Given the description of an element on the screen output the (x, y) to click on. 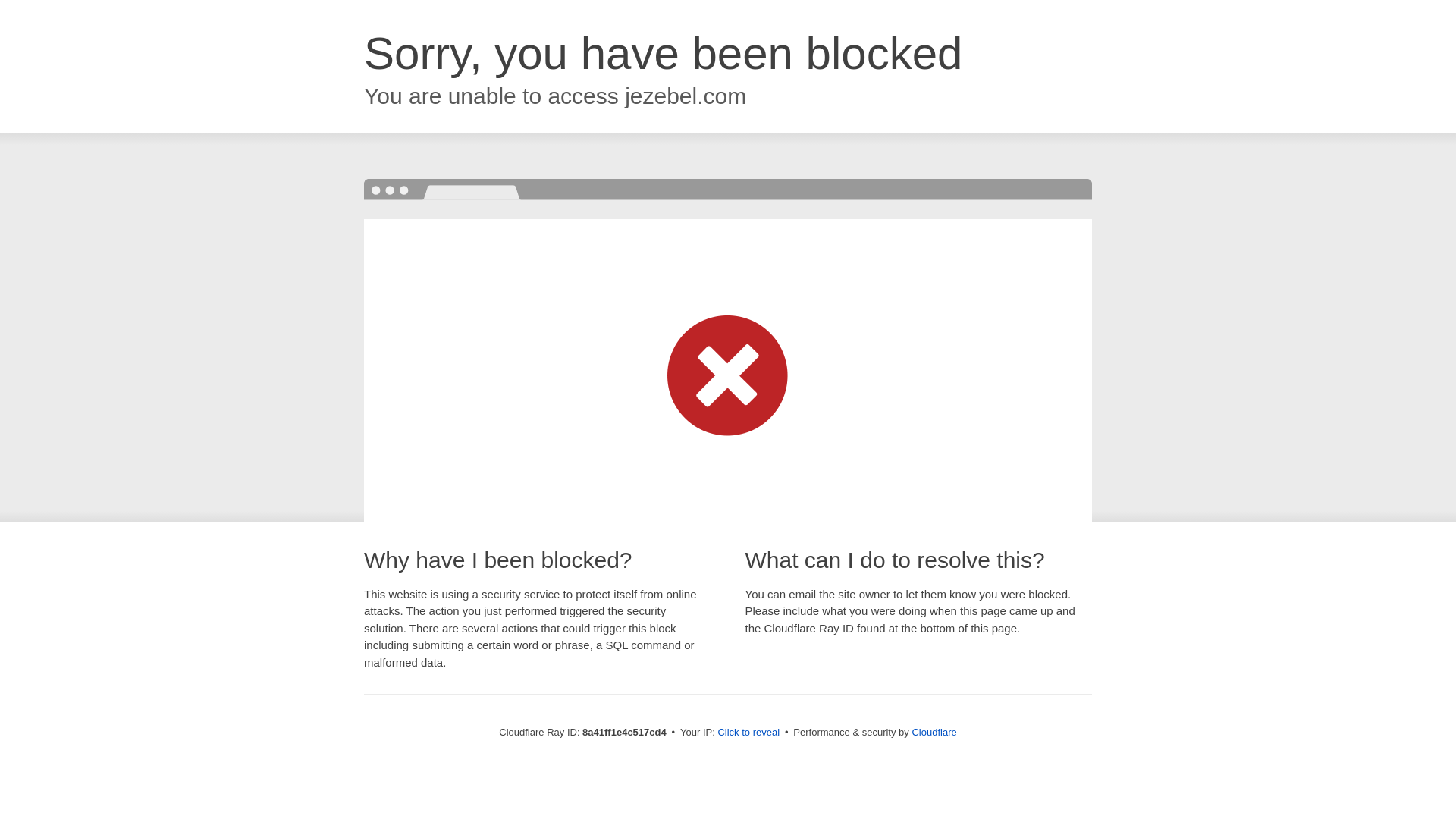
Cloudflare (933, 731)
Click to reveal (747, 732)
